Given the description of an element on the screen output the (x, y) to click on. 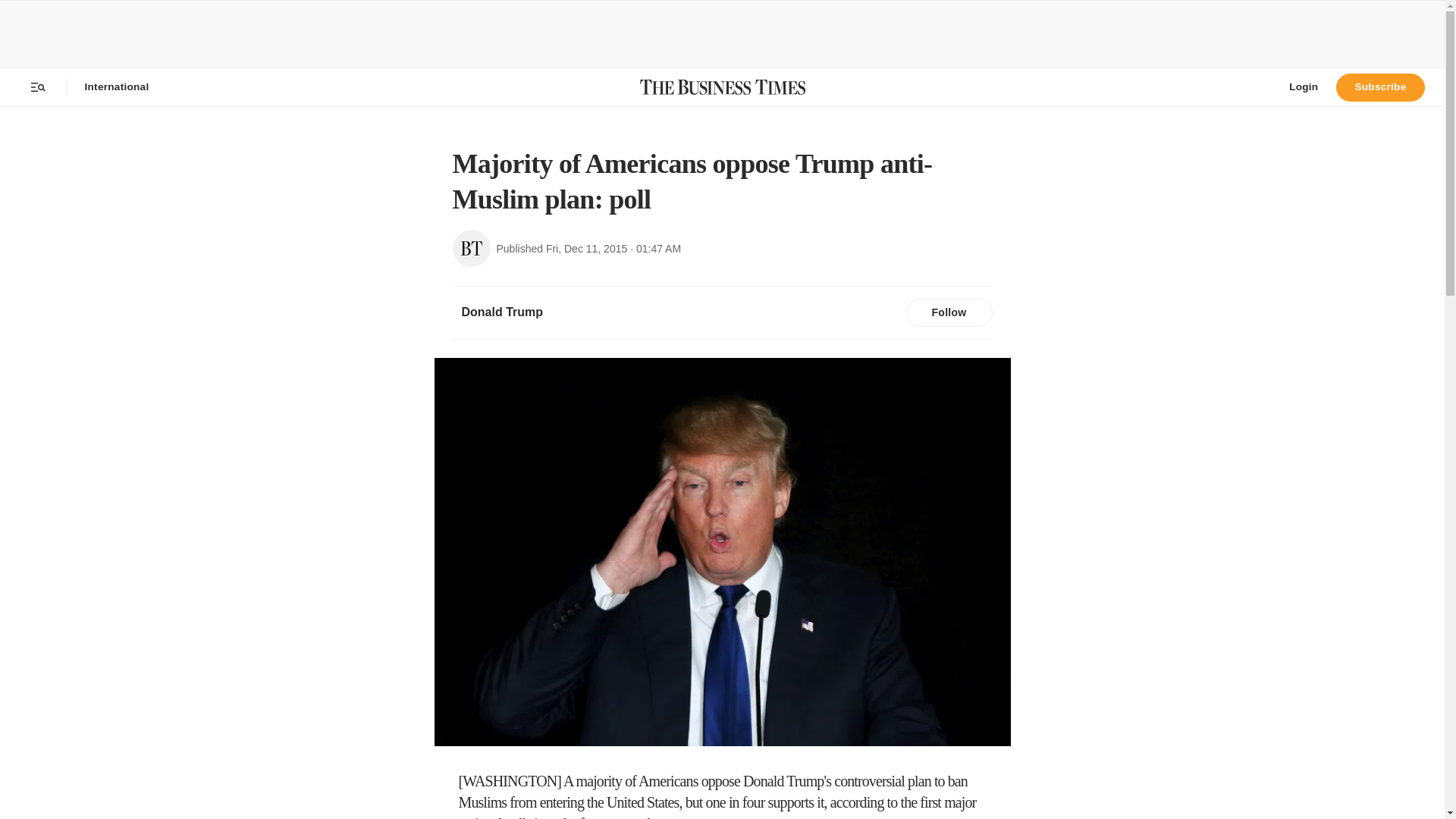
The Business Times (722, 86)
Subscribe (1379, 86)
International (116, 86)
Donald Trump (501, 312)
Follow (948, 312)
Login (1302, 86)
